Given the description of an element on the screen output the (x, y) to click on. 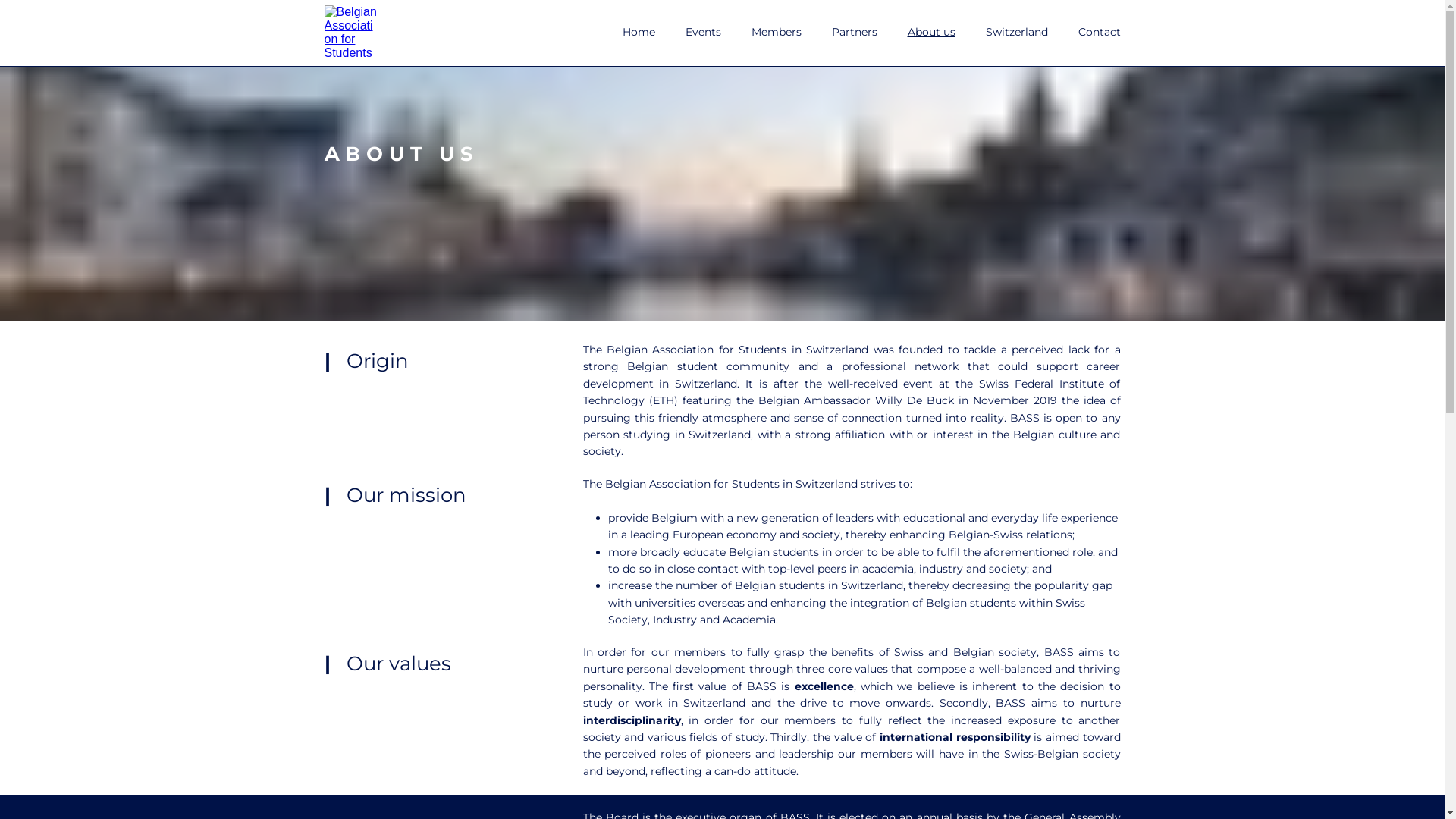
Members Element type: text (775, 31)
Home Element type: text (637, 31)
Contact Element type: text (1099, 31)
Switzerland Element type: text (1016, 31)
About us Element type: text (930, 31)
Events Element type: text (703, 31)
Partners Element type: text (853, 31)
